Given the description of an element on the screen output the (x, y) to click on. 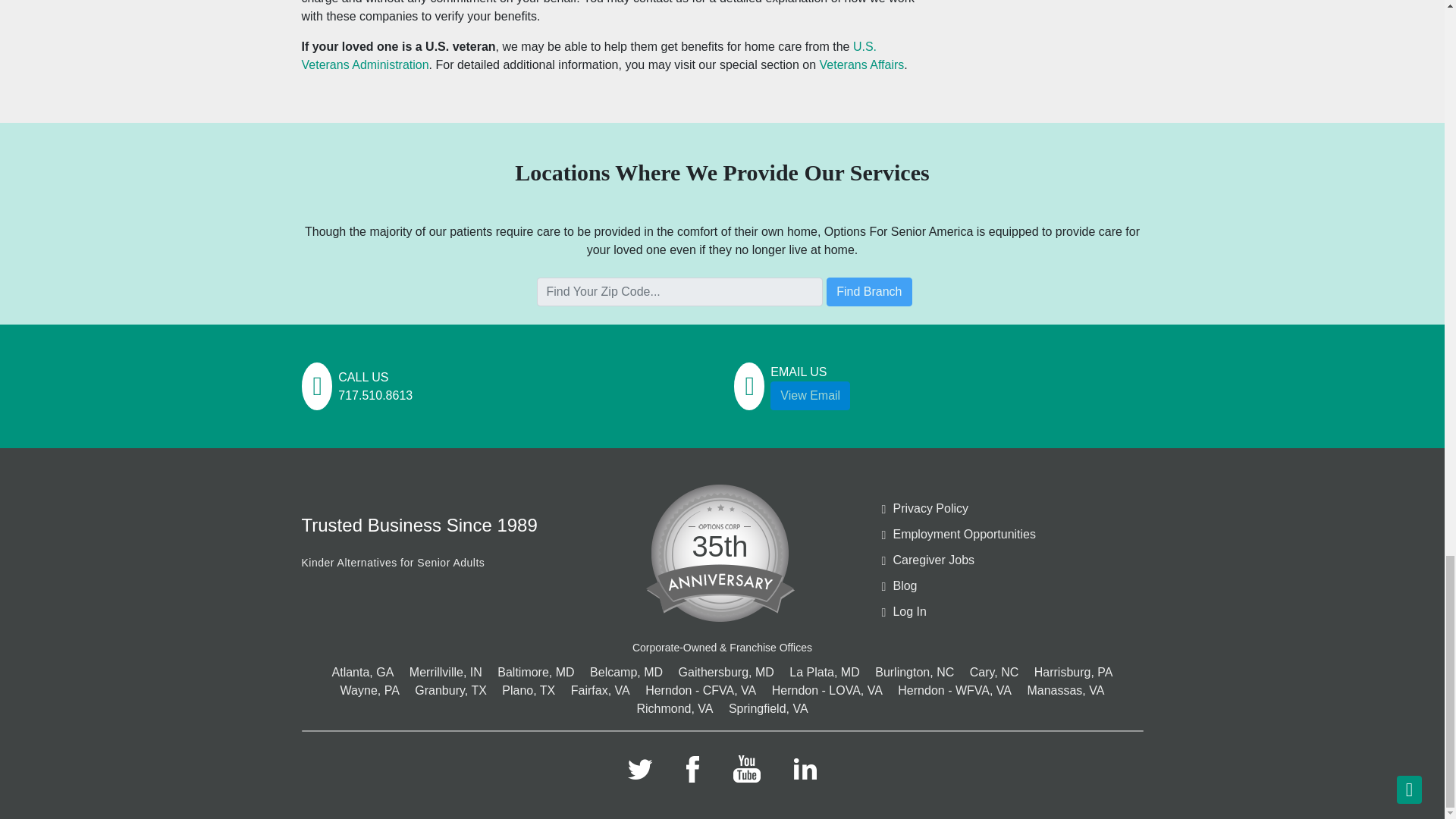
U.S. Veterans Administration (589, 55)
View Email (810, 395)
Log In (1015, 611)
Privacy Policy (1015, 508)
717.510.8613 (374, 395)
Find Branch (869, 291)
Blog (1015, 586)
Merrillville, IN (445, 671)
Caregiver Jobs (1015, 560)
Veterans Affairs (861, 64)
Employment Opportunities (1015, 534)
Atlanta, GA (362, 671)
